Given the description of an element on the screen output the (x, y) to click on. 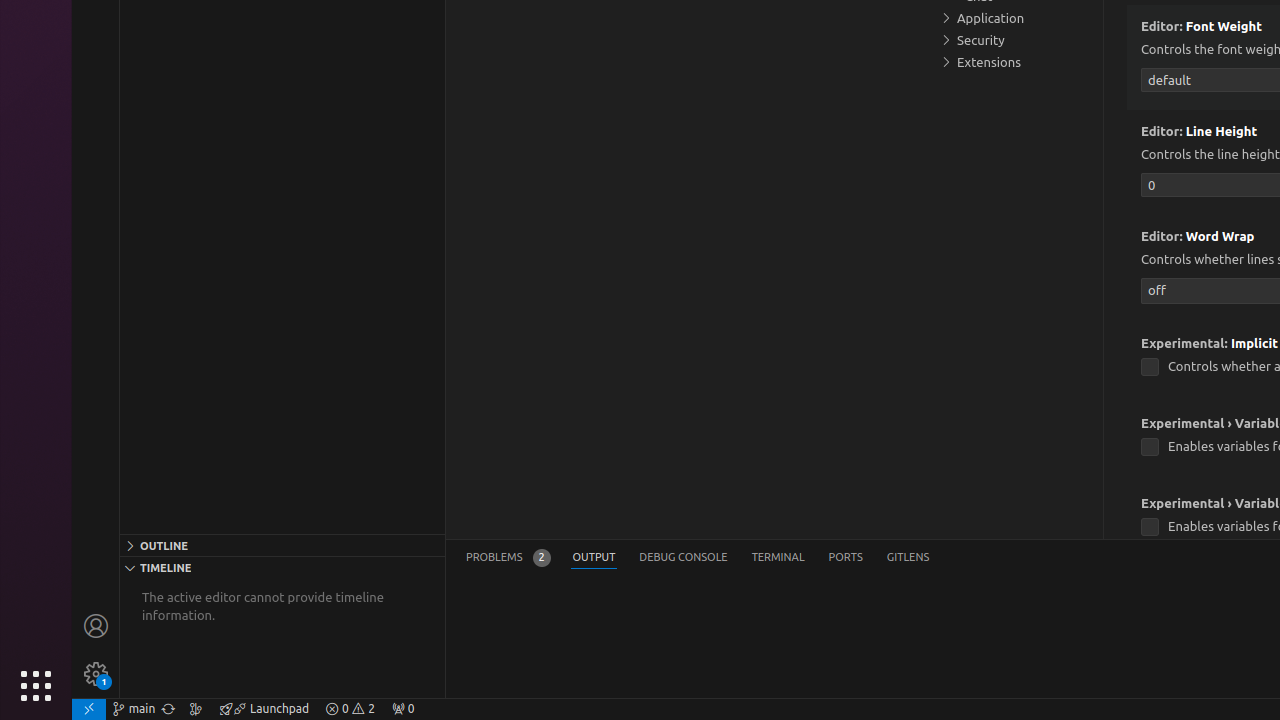
Accounts Element type: push-button (96, 626)
remote Element type: push-button (89, 709)
chat.experimental.variables.notebook Element type: check-box (1150, 527)
Application, group Element type: tree-item (1015, 18)
chat.experimental.variables.editor Element type: check-box (1150, 447)
